Given the description of an element on the screen output the (x, y) to click on. 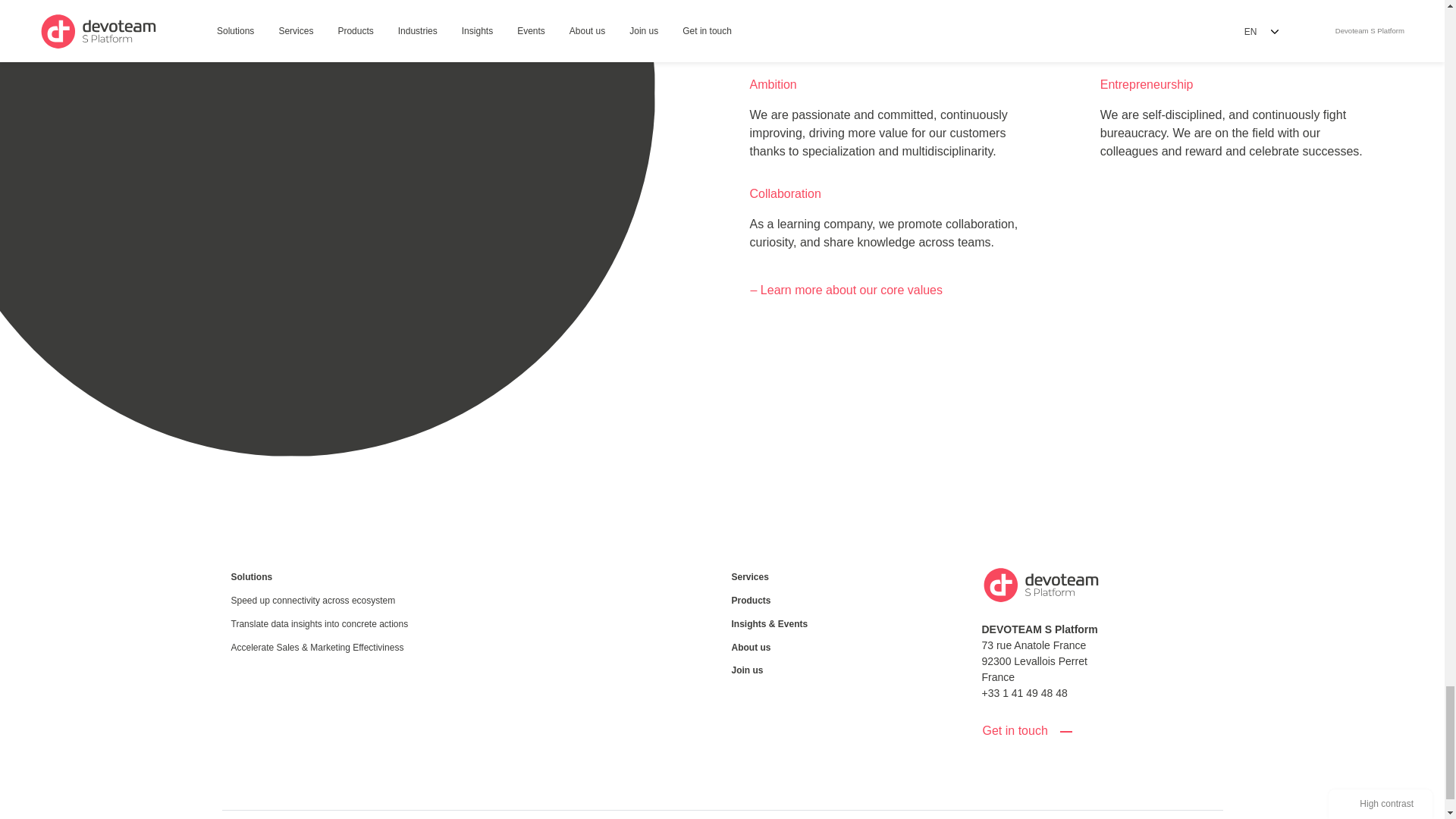
Solutions (346, 576)
